Given the description of an element on the screen output the (x, y) to click on. 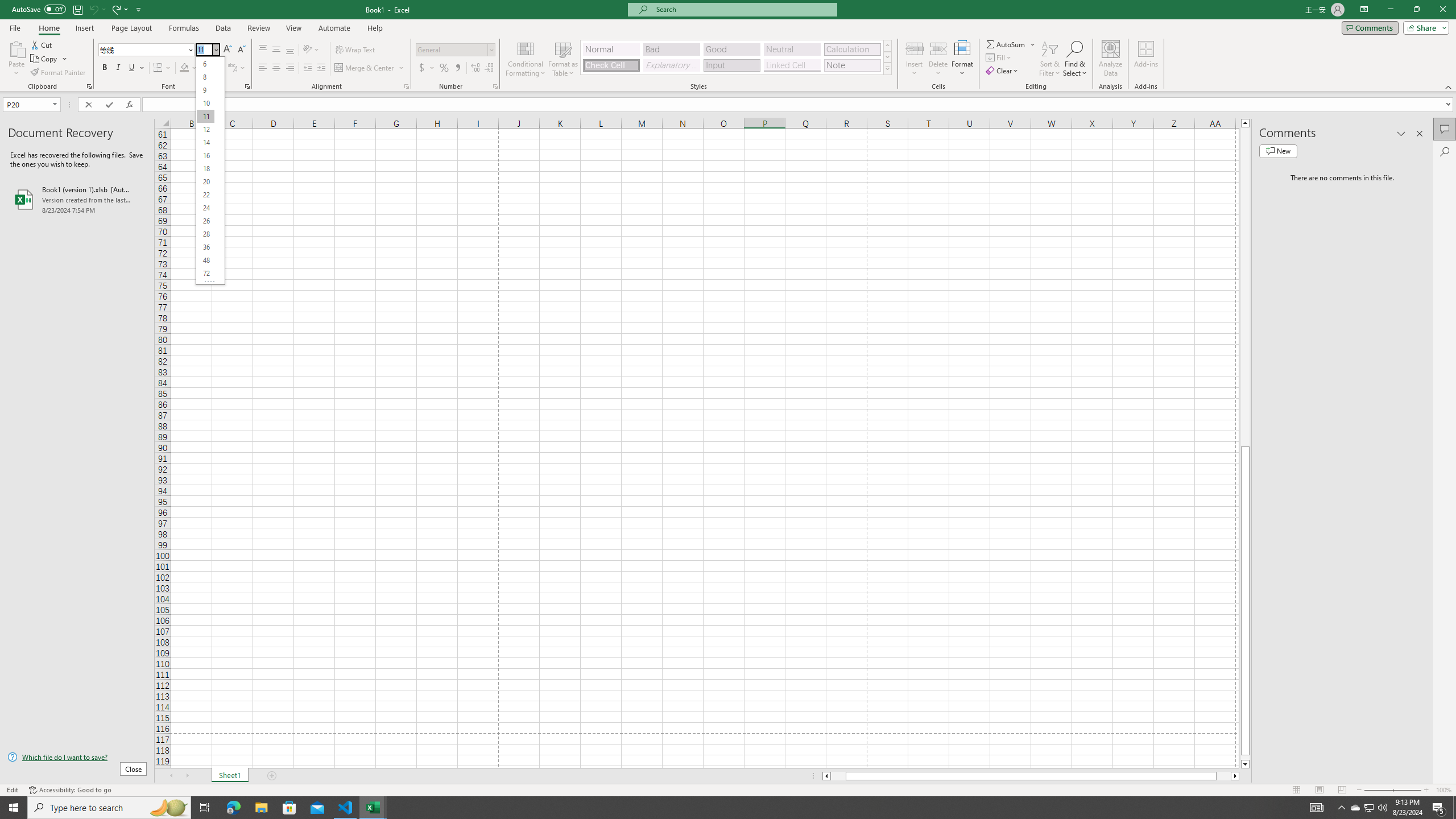
Undo (96, 9)
Scroll Left (171, 775)
AutomationID: CellStylesGallery (736, 57)
Cut (42, 44)
Comma Style (457, 67)
Merge & Center (365, 67)
28 (205, 233)
12 (205, 128)
Comments (1369, 27)
Class: NetUIScrollBar (1030, 775)
Column left (826, 775)
8 (205, 76)
AutoSave (38, 9)
Format as Table (563, 58)
Format (962, 58)
